Given the description of an element on the screen output the (x, y) to click on. 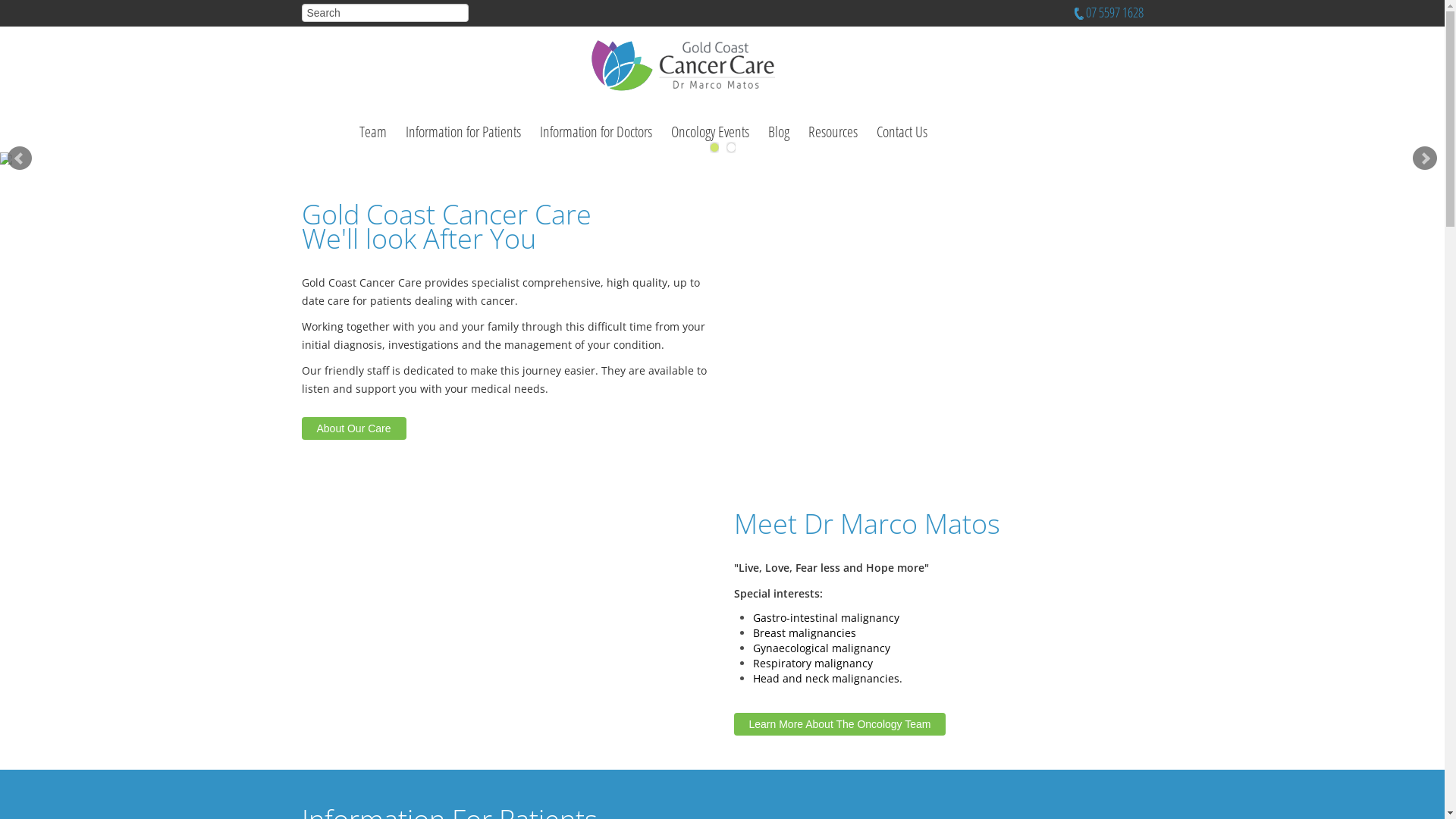
Resources Element type: text (832, 131)
Oncology Events Element type: text (709, 131)
Learn More About The Oncology Team Element type: text (840, 723)
Learn More About The Oncology Team Element type: text (840, 723)
1 Element type: text (713, 147)
Search Element type: text (384, 12)
Information for Doctors Element type: text (595, 131)
Information for Patients Element type: text (462, 131)
Prev Element type: text (19, 158)
Next Element type: text (1424, 158)
About Our Care Element type: text (353, 427)
2 Element type: text (730, 147)
Blog Element type: text (777, 131)
Contact Us Element type: text (901, 131)
Team Element type: text (372, 131)
About Our Care Element type: text (353, 428)
